Given the description of an element on the screen output the (x, y) to click on. 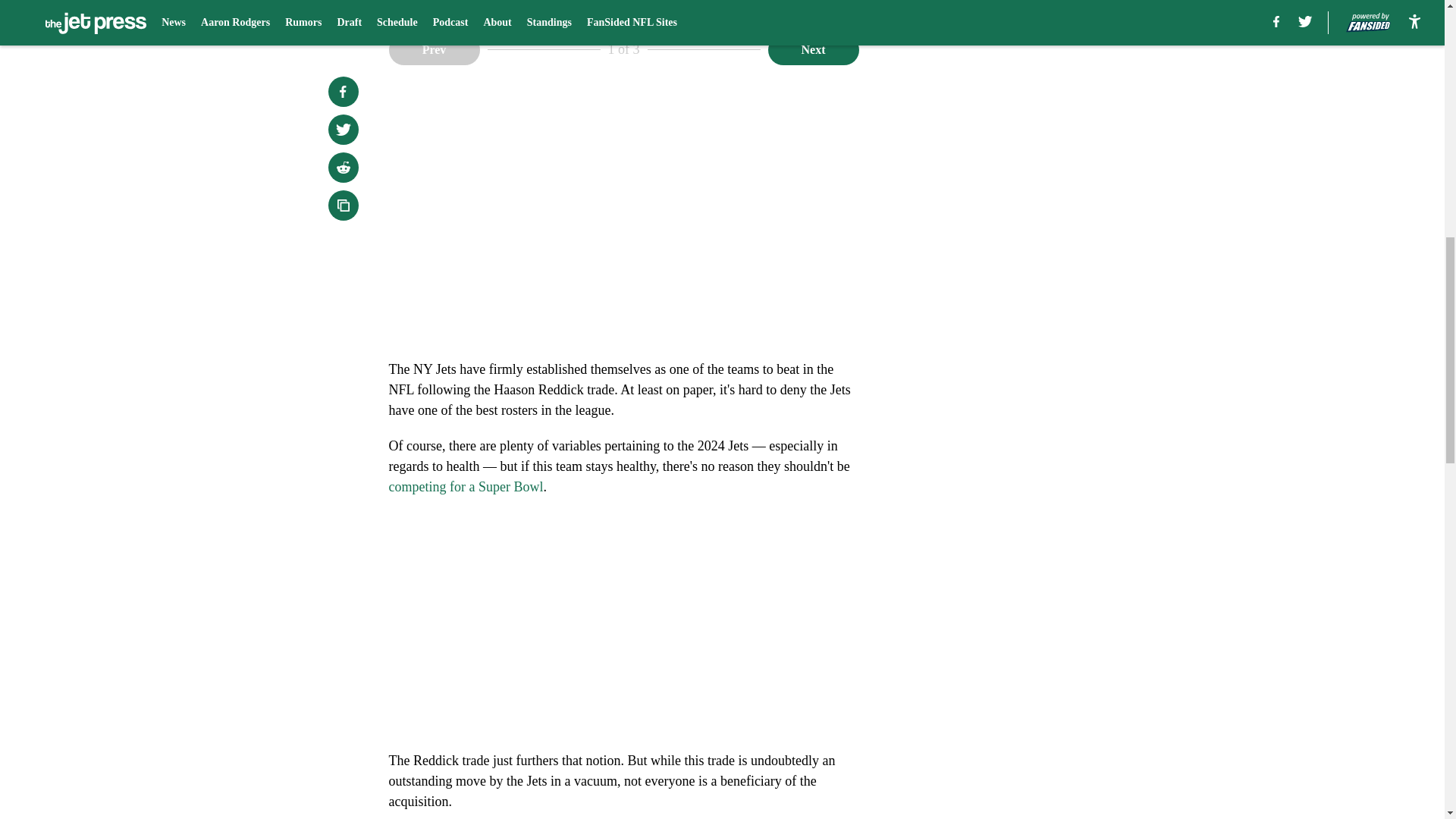
Prev (433, 50)
Next (813, 50)
competing for a Super Bowl (465, 486)
